Given the description of an element on the screen output the (x, y) to click on. 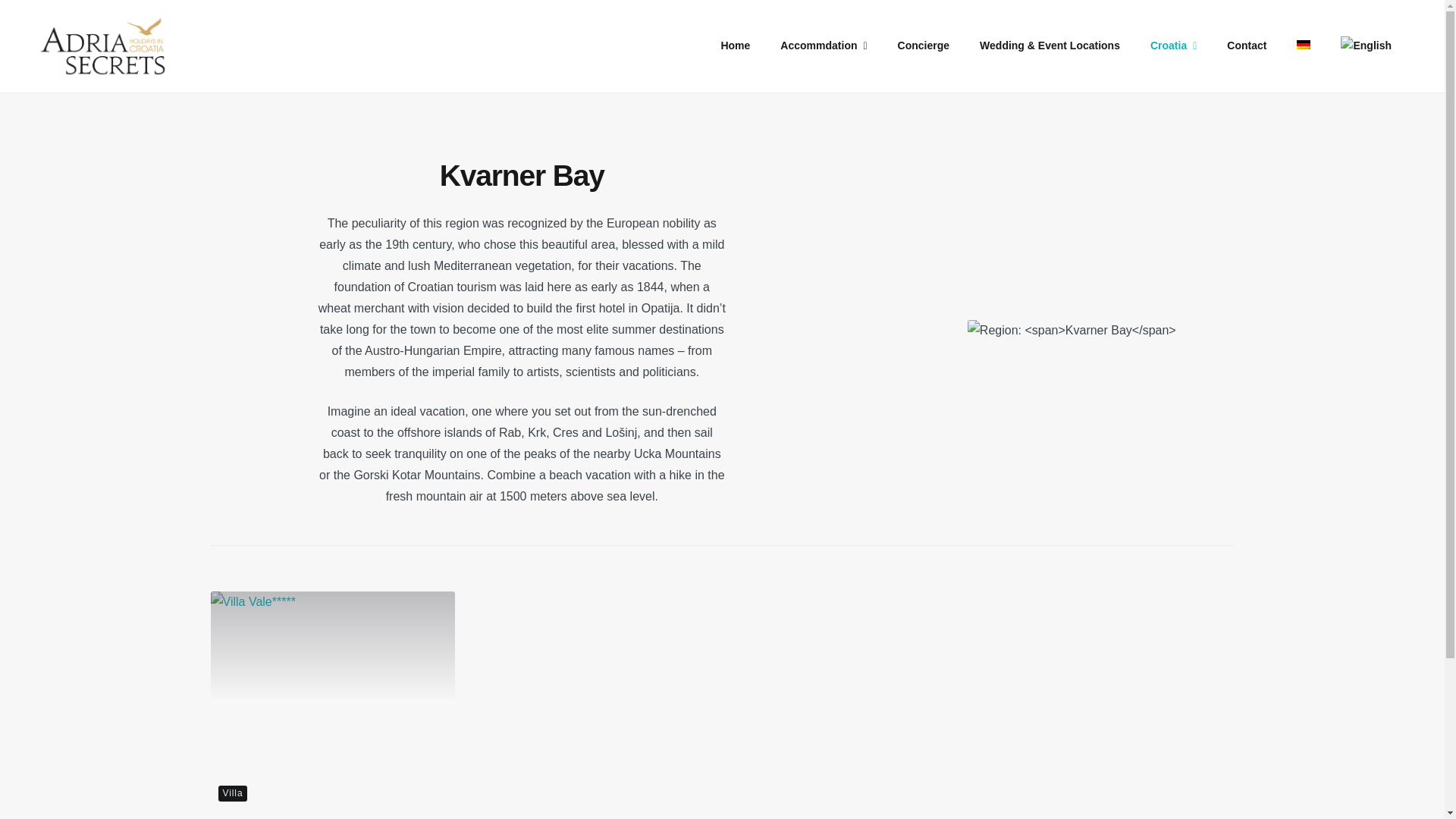
Contact (1246, 45)
Villa (232, 793)
Home (734, 45)
Croatia (1173, 46)
Concierge (922, 45)
Accommdation (823, 46)
Adria Secrets (81, 45)
